Given the description of an element on the screen output the (x, y) to click on. 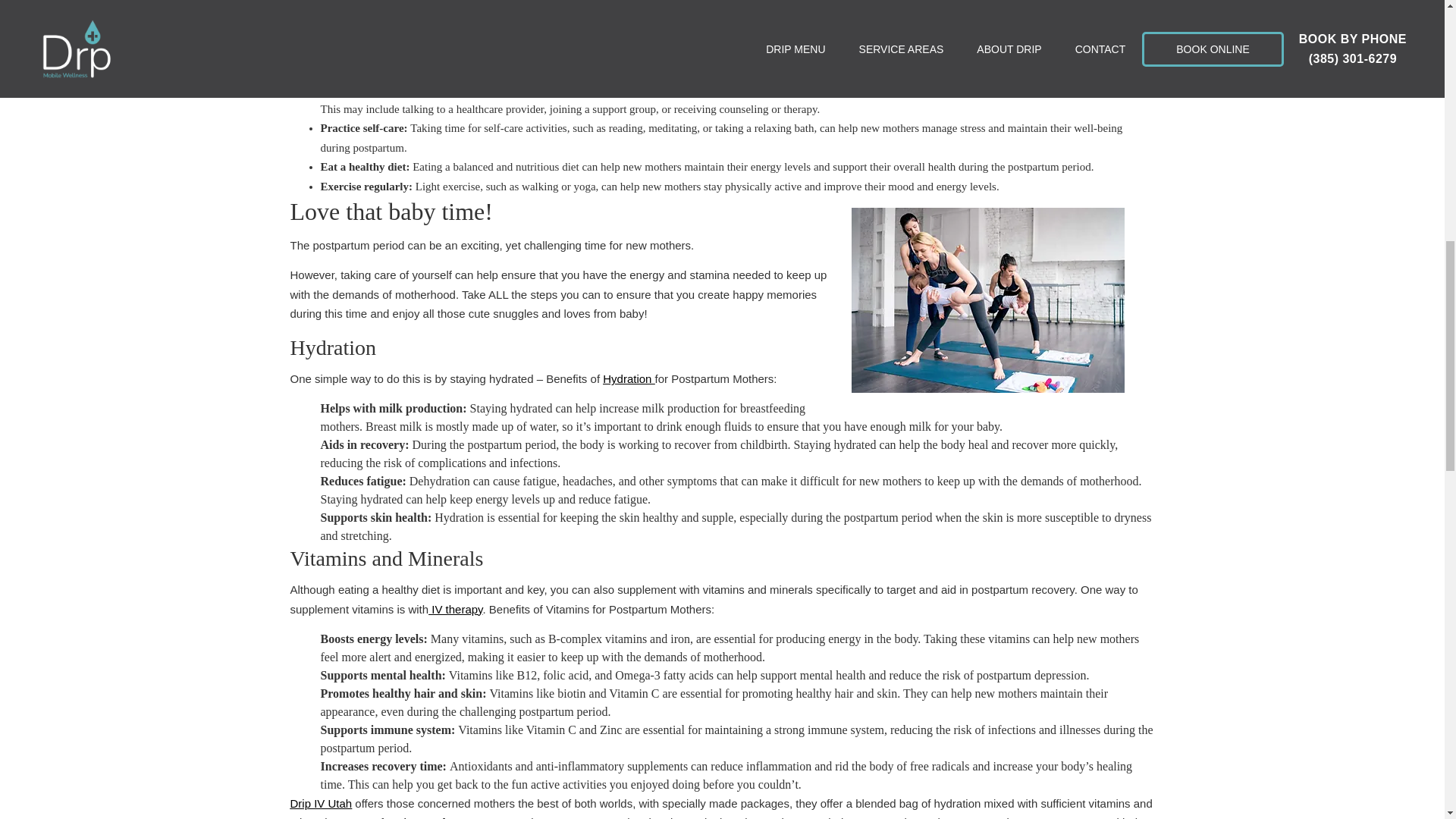
Drip IV Utah (320, 802)
IV therapy (454, 608)
IV therapy for pregnancy (449, 817)
Hydration (627, 378)
